Given the description of an element on the screen output the (x, y) to click on. 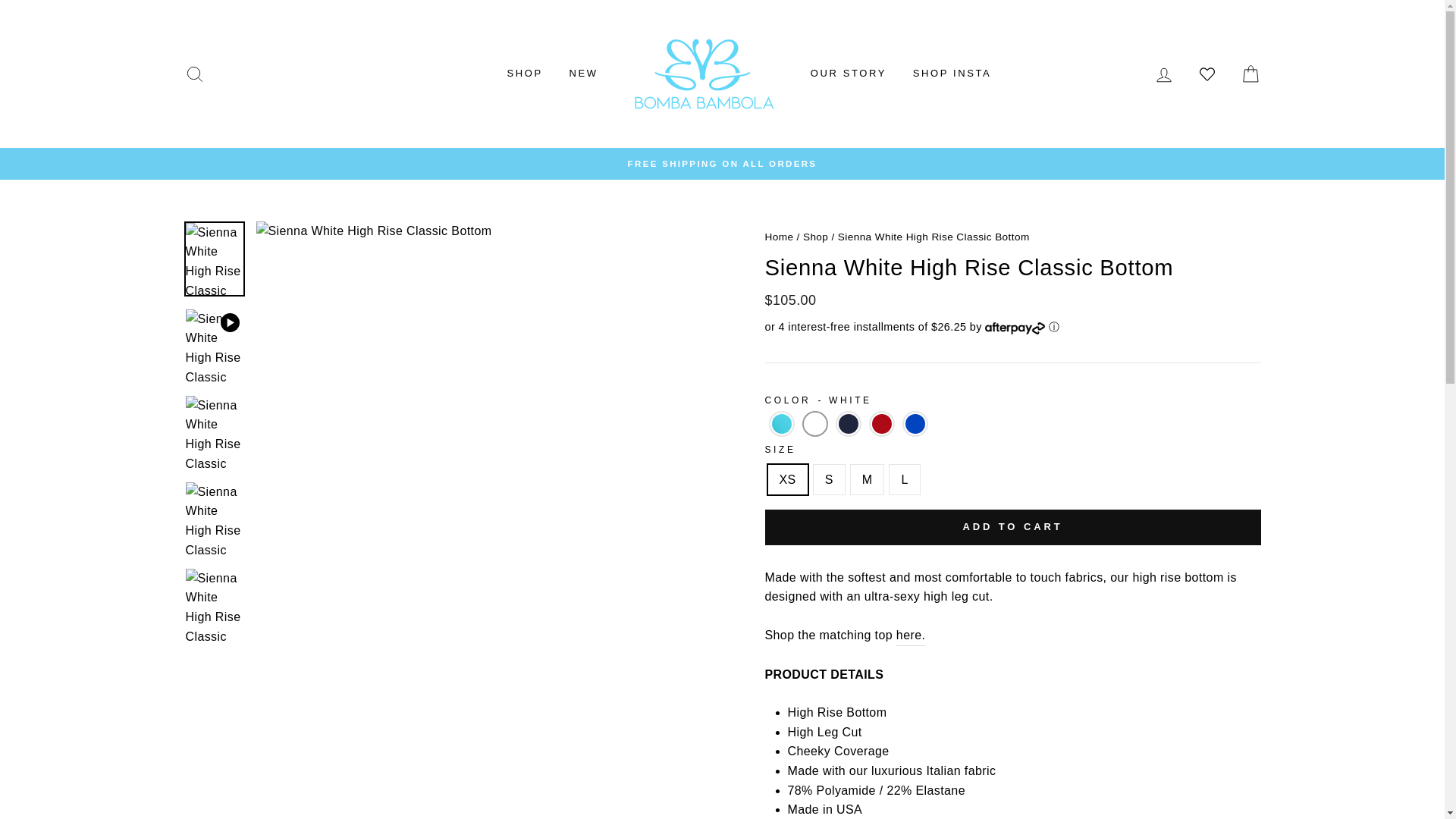
Home (778, 236)
SHOP (525, 73)
SEARCH (194, 73)
Home (812, 236)
